Given the description of an element on the screen output the (x, y) to click on. 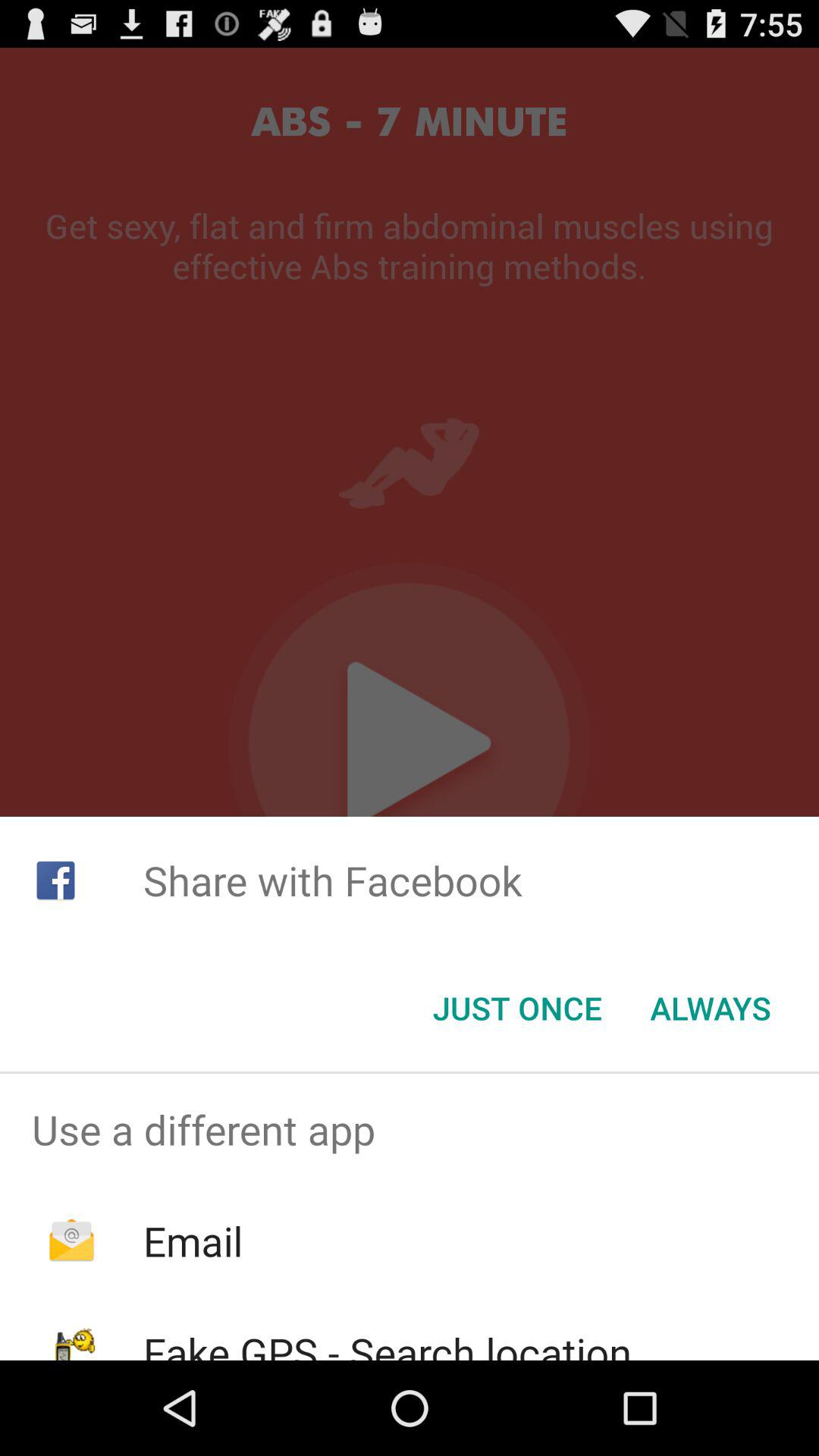
turn off the button to the right of the just once (710, 1007)
